Given the description of an element on the screen output the (x, y) to click on. 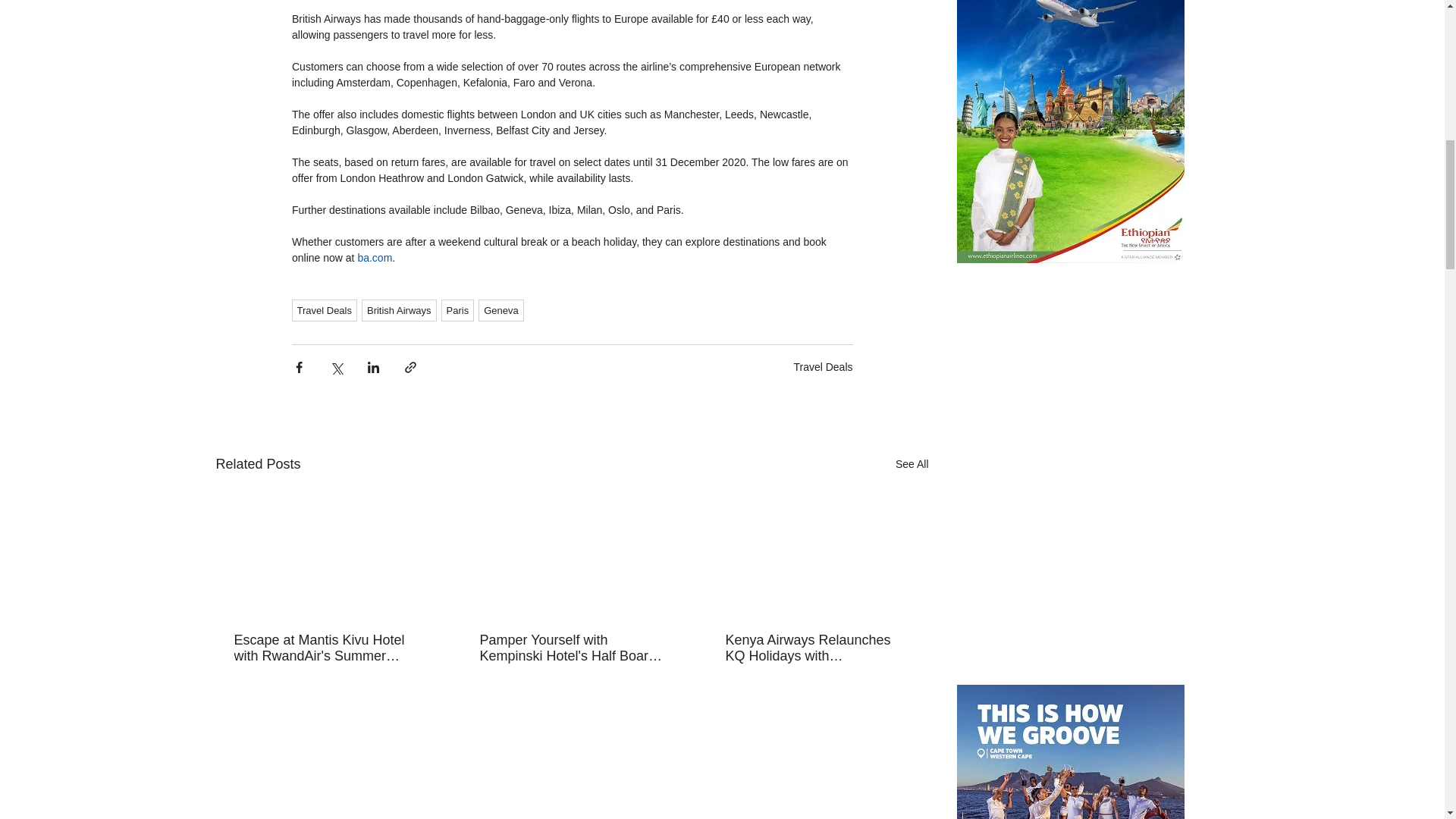
Geneva (501, 310)
British Airways (398, 310)
ba.com (373, 257)
Paris (457, 310)
See All (911, 464)
Escape at Mantis Kivu Hotel with RwandAir's Summer Deal (324, 648)
Travel Deals (822, 367)
Pamper Yourself with Kempinski Hotel's Half Board Package (570, 648)
Travel Deals (323, 310)
